Given the description of an element on the screen output the (x, y) to click on. 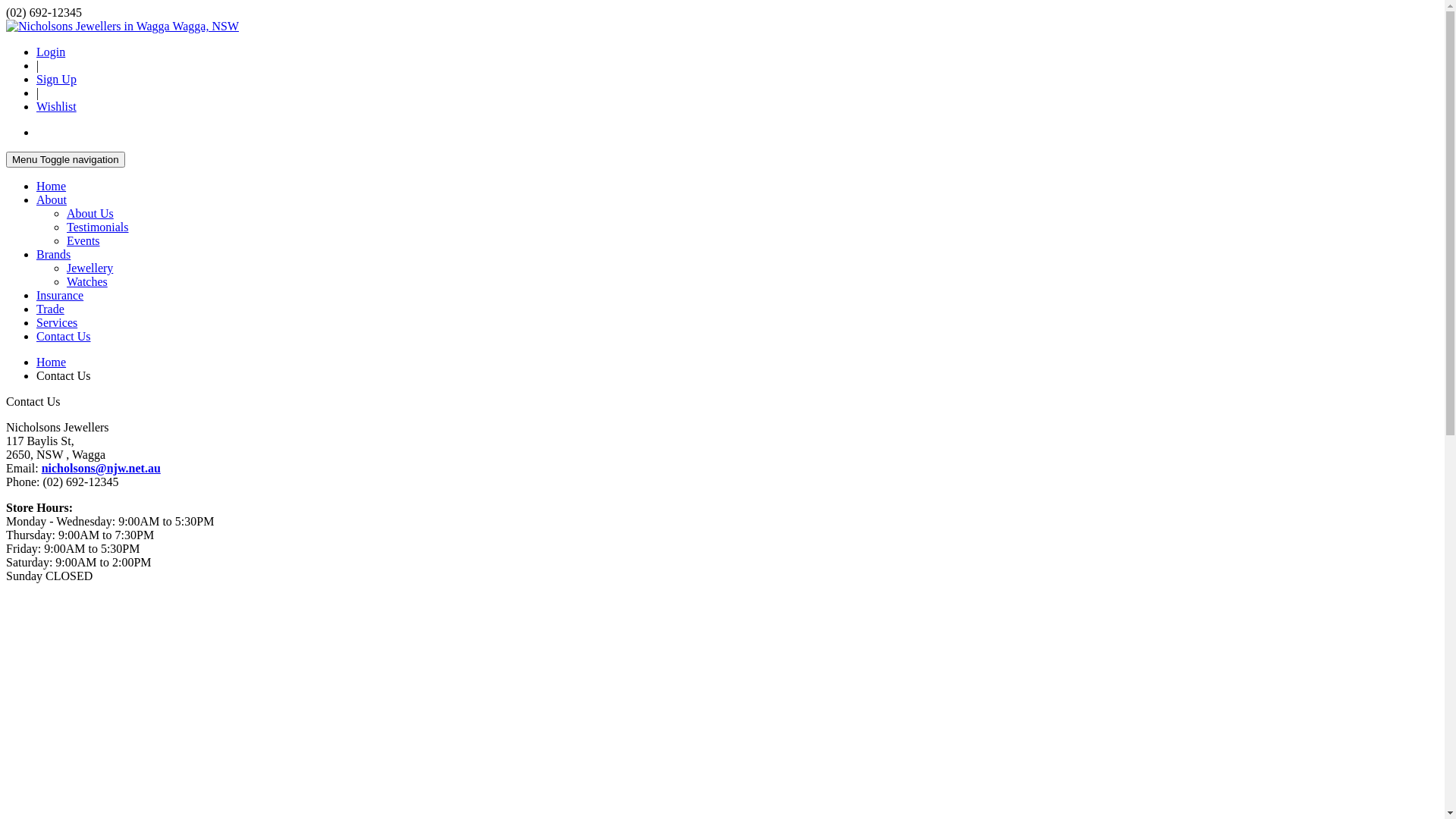
Watches Element type: text (86, 281)
Trade Element type: text (50, 308)
Testimonials Element type: text (97, 226)
Nicholsons Jewellers In Wagga Wagga, NSW Element type: hover (122, 25)
nicholsons@njw.net.au Element type: text (100, 467)
Menu Toggle navigation Element type: text (65, 159)
About Us Element type: text (89, 213)
About Element type: text (51, 199)
Jewellery Element type: text (89, 267)
Sign Up Element type: text (56, 78)
Login Element type: text (50, 51)
Wishlist Element type: text (56, 106)
Home Element type: text (50, 185)
Insurance Element type: text (59, 294)
Events Element type: text (83, 240)
Brands Element type: text (53, 253)
Home Element type: text (50, 361)
Services Element type: text (56, 322)
Contact Us Element type: text (63, 335)
